Given the description of an element on the screen output the (x, y) to click on. 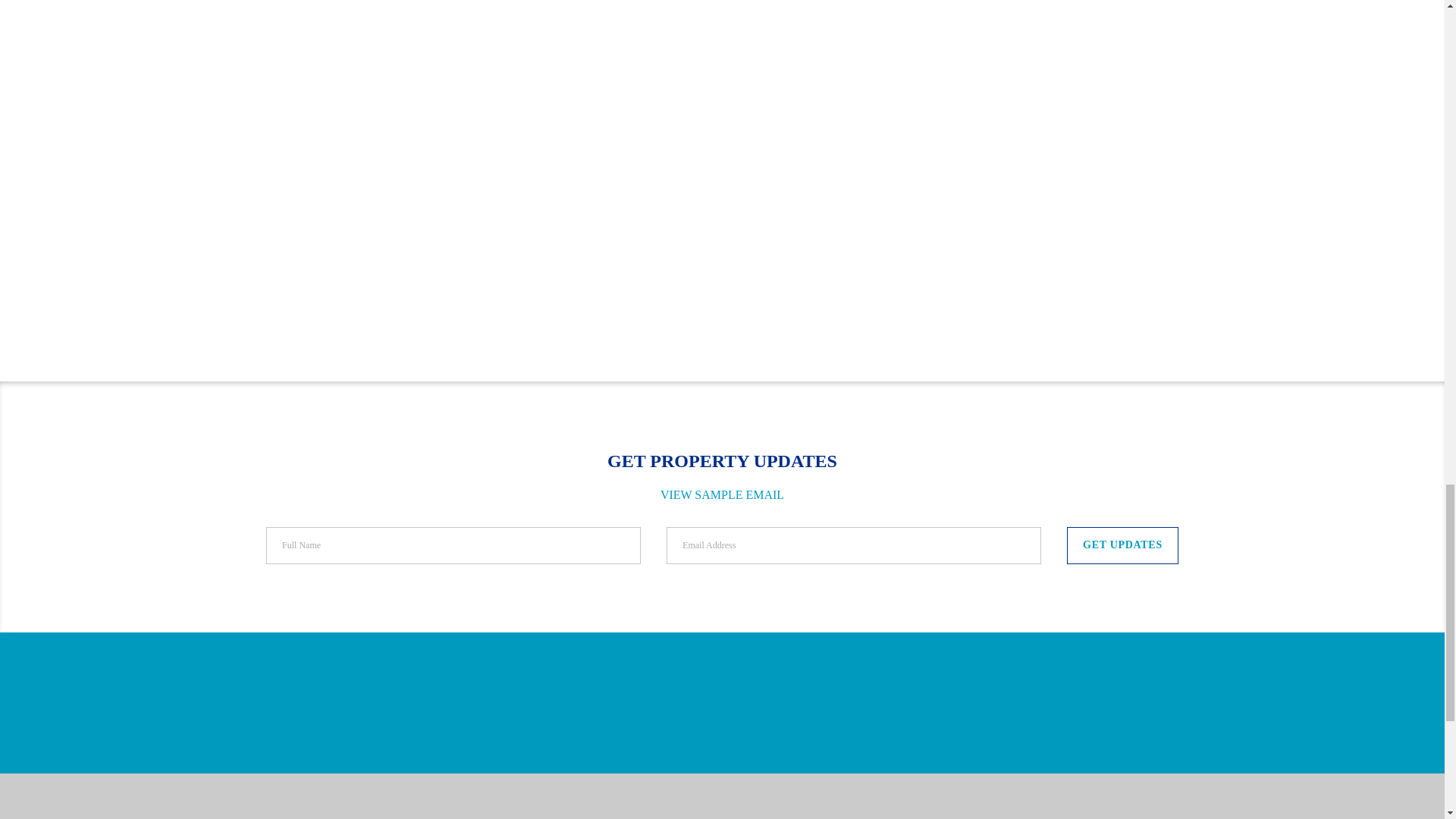
VIEW SAMPLE EMAIL (722, 494)
GET UPDATES (1122, 545)
